Given the description of an element on the screen output the (x, y) to click on. 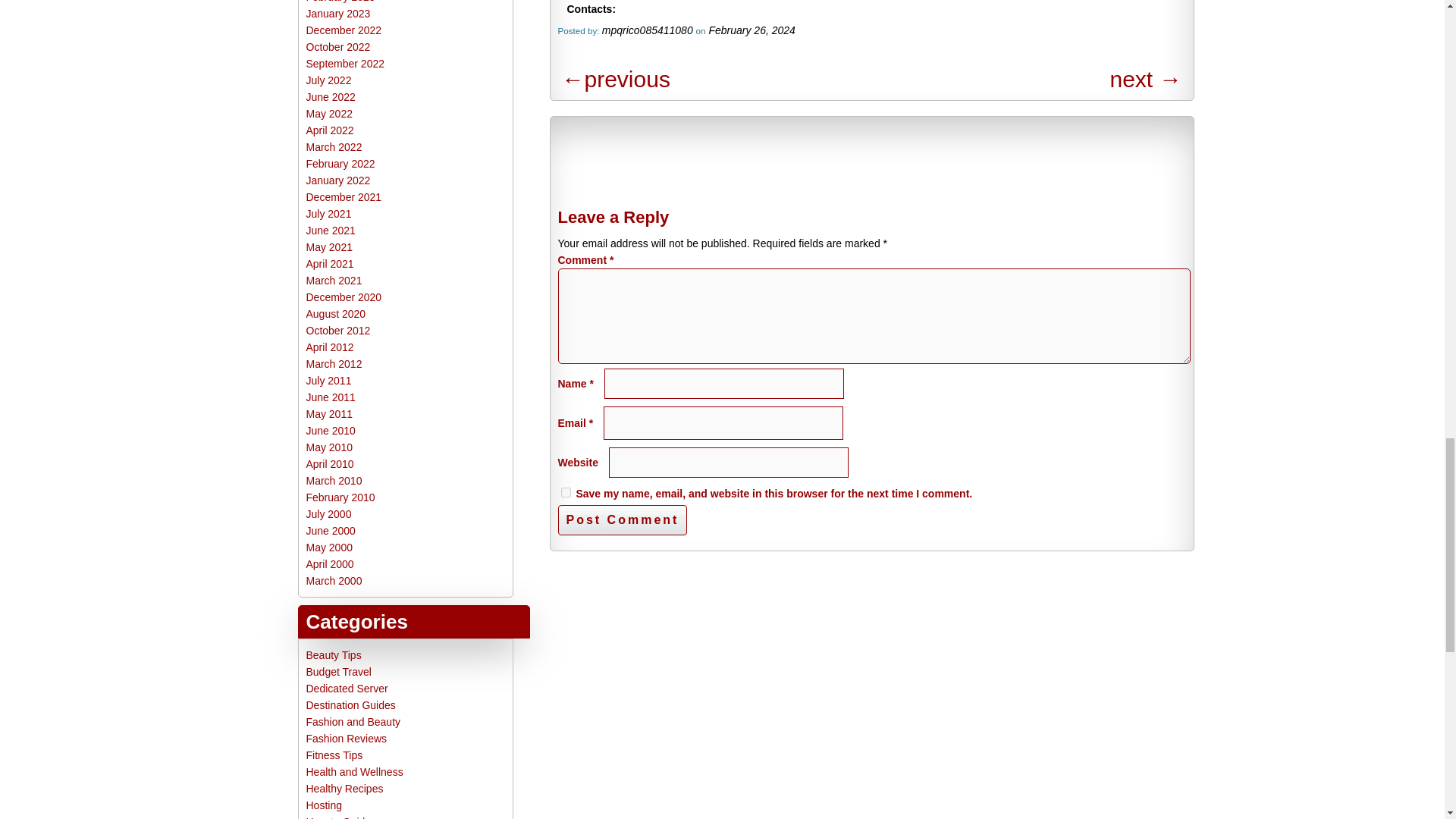
Post Comment (622, 520)
Post Comment (622, 520)
yes (565, 492)
